Given the description of an element on the screen output the (x, y) to click on. 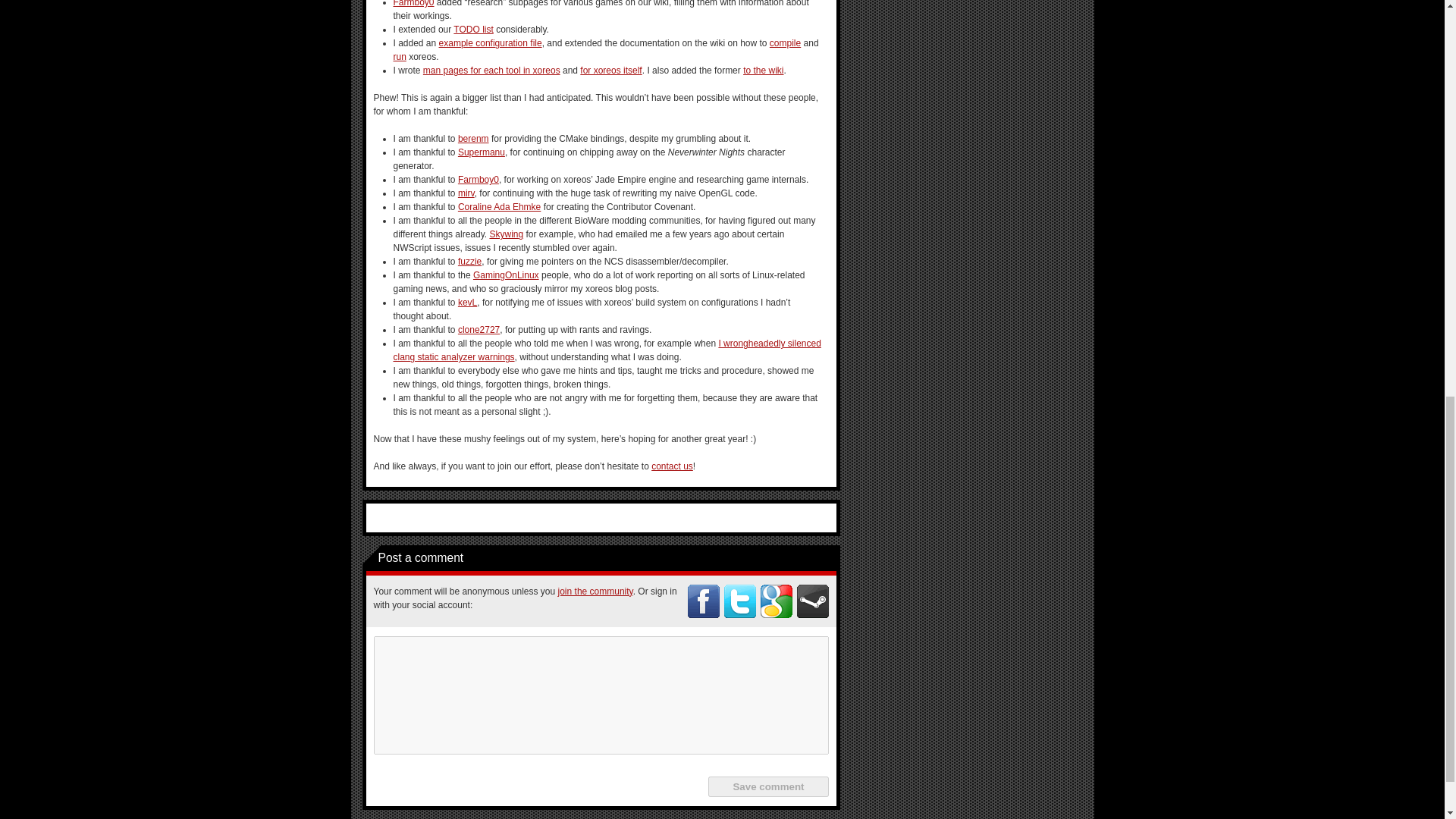
Click to connect via Twitter (739, 601)
Click to connect via Facebook (703, 601)
Save comment (767, 786)
Click to connect via Google (776, 601)
Click to connect via Steam (812, 601)
